Given the description of an element on the screen output the (x, y) to click on. 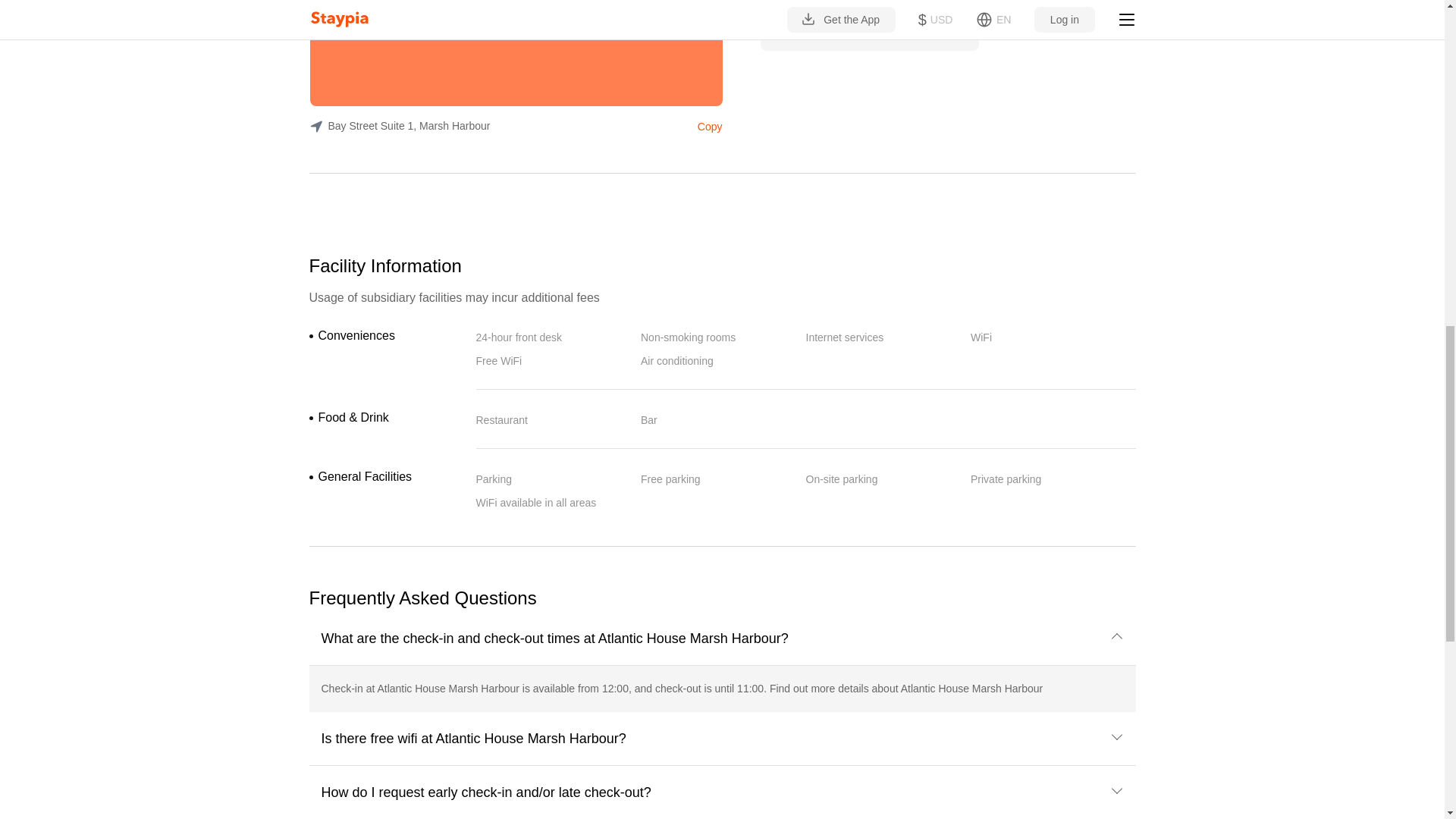
Find out more details about Atlantic House Marsh Harbour (906, 688)
Is there free wifi at Atlantic House Marsh Harbour? (722, 737)
Copy (706, 125)
